Given the description of an element on the screen output the (x, y) to click on. 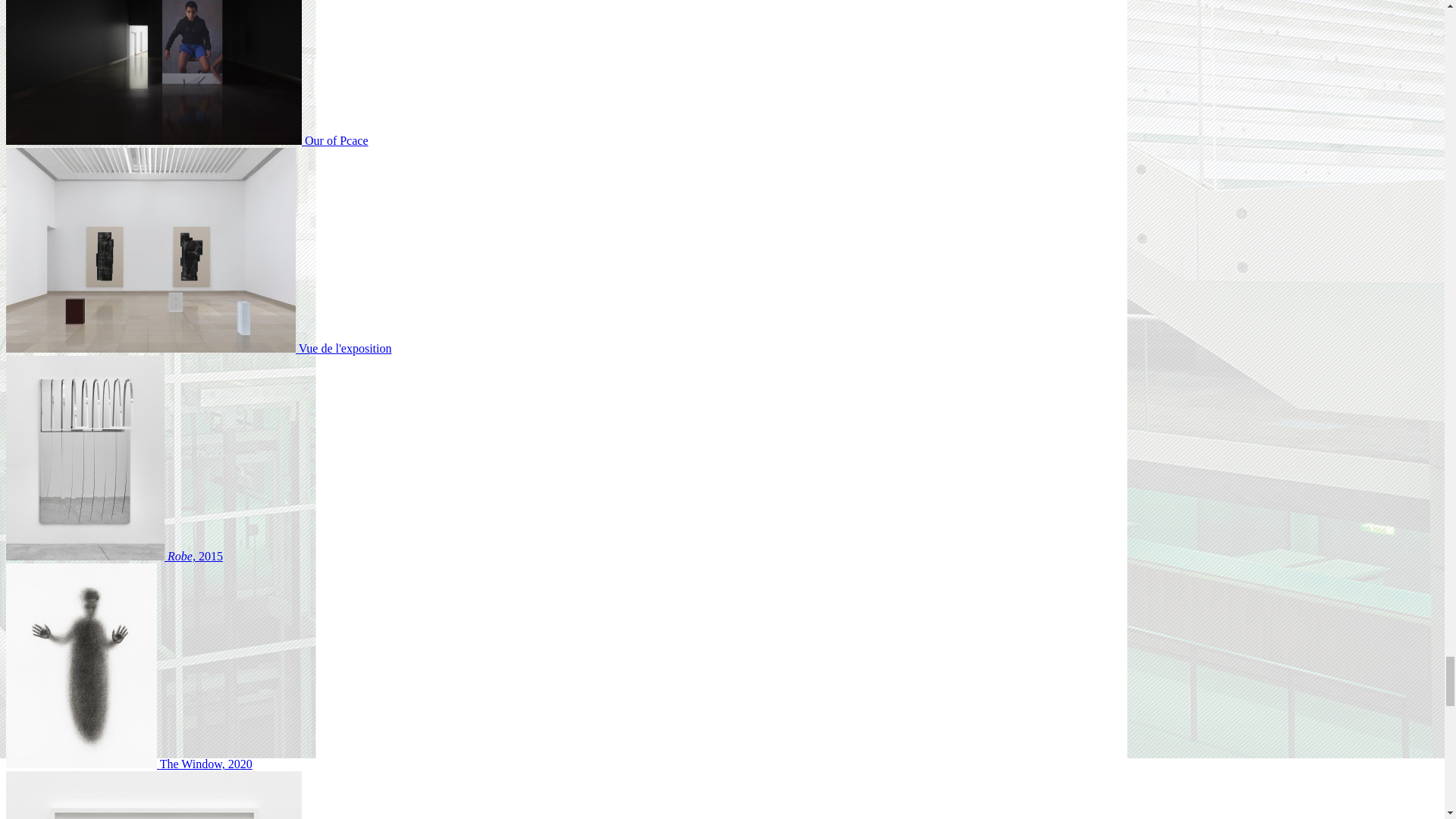
Photo Vinciane Lebrun (186, 140)
Photo Vinciane Lebrun (198, 348)
